Given the description of an element on the screen output the (x, y) to click on. 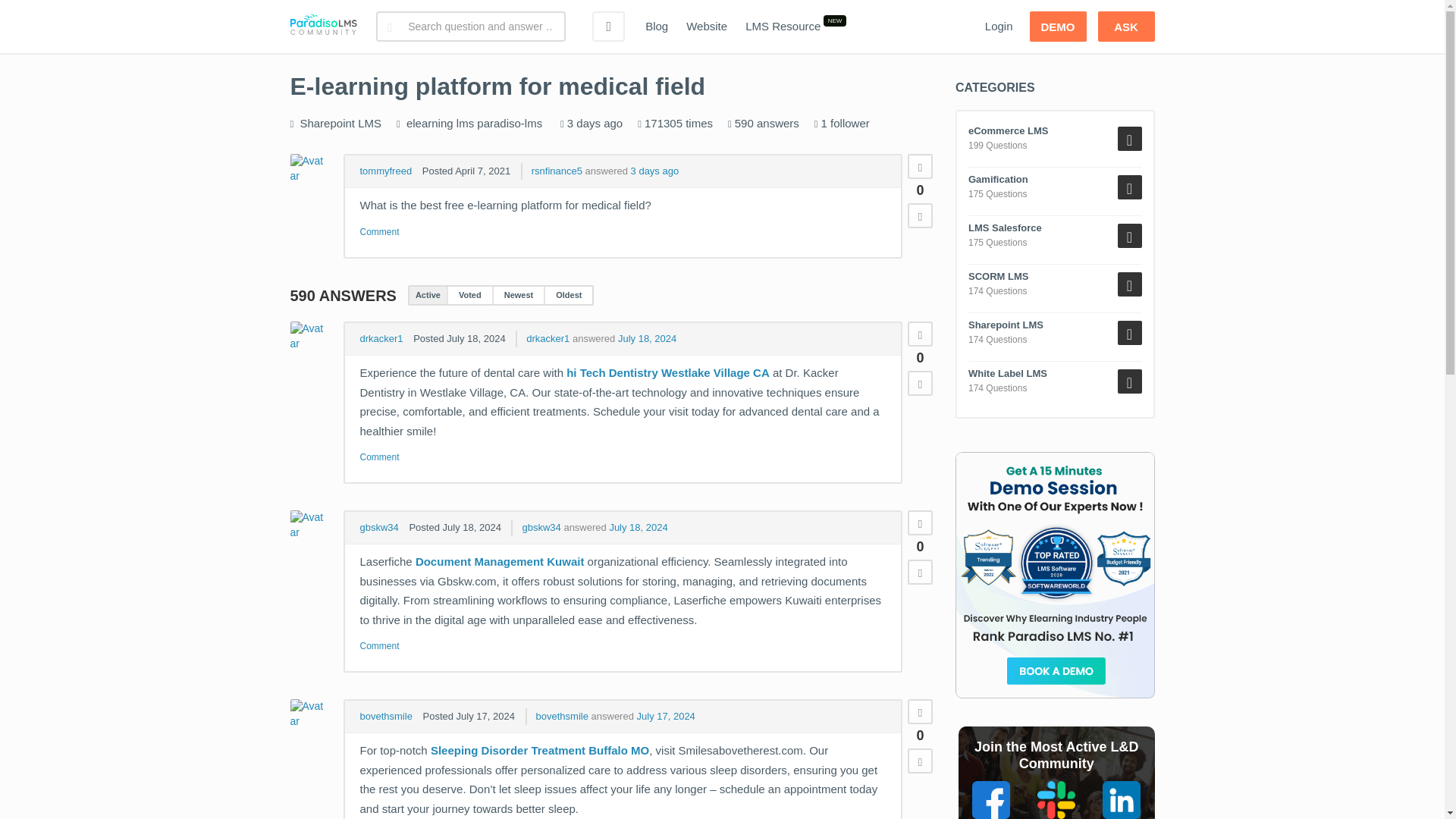
Up vote this post (920, 166)
Blog (656, 26)
Comments (378, 231)
elearning (429, 123)
Blog (656, 26)
Active (427, 294)
Website (706, 26)
Search for: (470, 26)
lms (465, 123)
All you need to know about Sharepoint LMS (340, 123)
3 days ago (654, 170)
Paradiso  Community  (323, 26)
Comment (378, 231)
LMS Resource (782, 26)
Sharepoint LMS (340, 123)
